Given the description of an element on the screen output the (x, y) to click on. 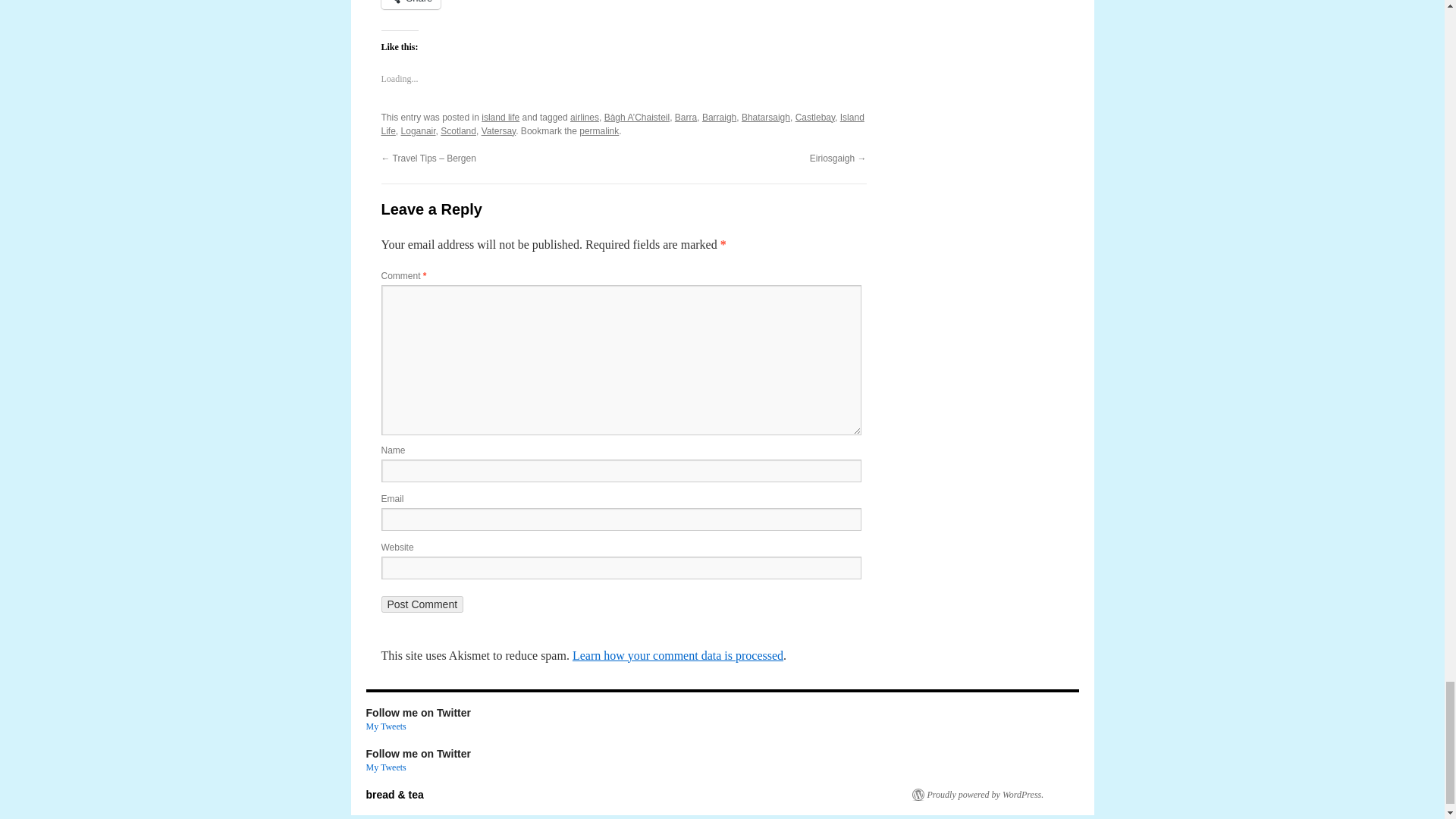
Barra (686, 117)
Island Life (621, 124)
Loganair (418, 131)
Bhatarsaigh (765, 117)
permalink (598, 131)
Post Comment (421, 604)
Share (410, 4)
Permalink to Barraigh (598, 131)
island life (500, 117)
Semantic Personal Publishing Platform (977, 794)
